Given the description of an element on the screen output the (x, y) to click on. 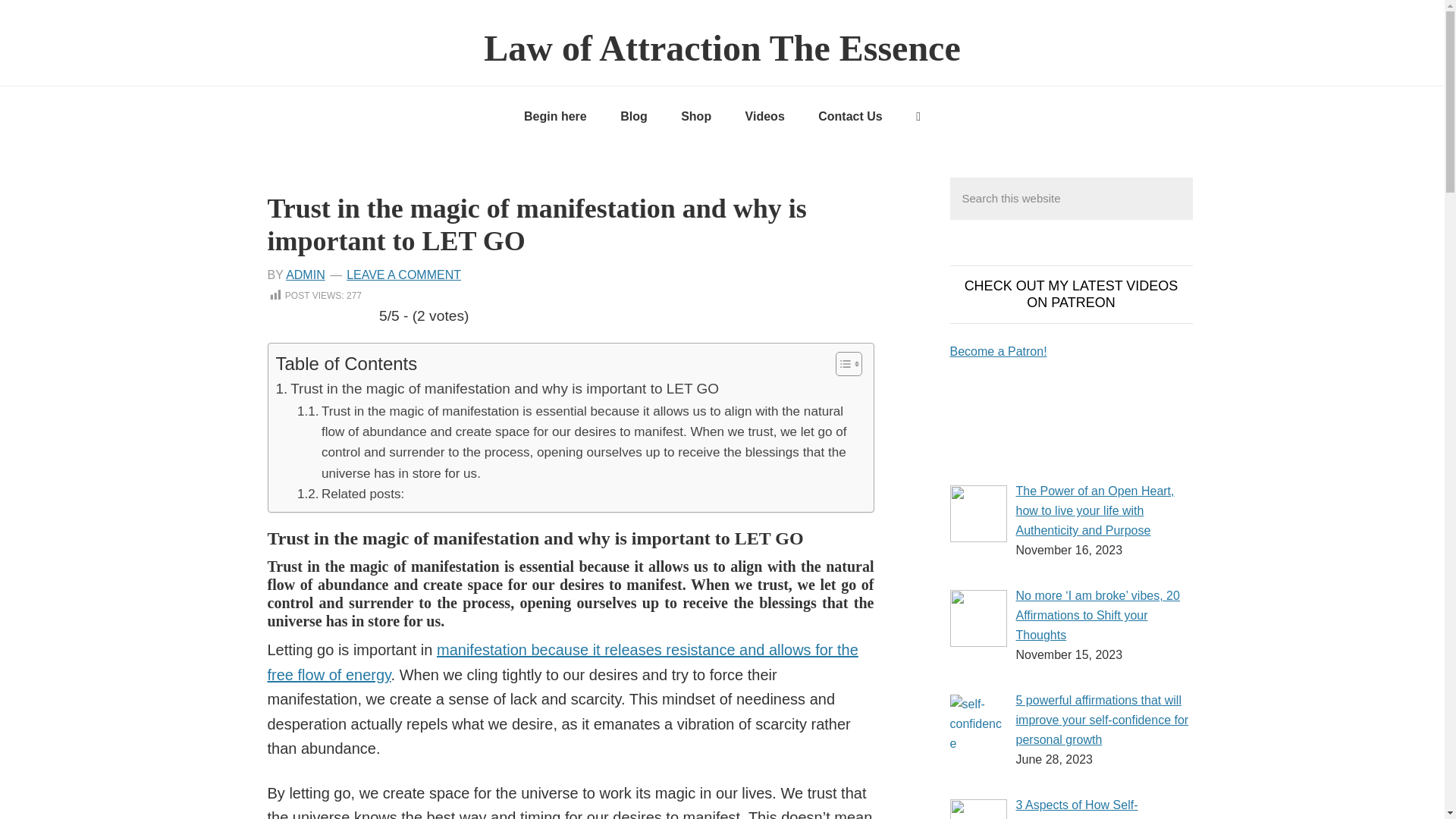
Related posts: (350, 494)
Blog (633, 116)
Contact Us (849, 116)
Videos (764, 116)
Law of Attraction The Essence (721, 47)
LEAVE A COMMENT (403, 274)
Shop (695, 116)
ADMIN (304, 274)
